Given the description of an element on the screen output the (x, y) to click on. 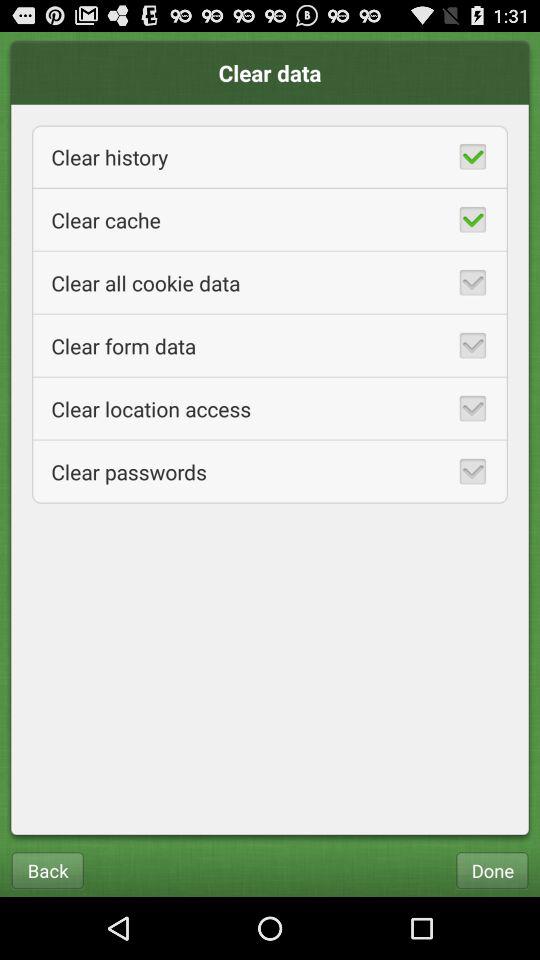
turn off clear all cookie item (269, 282)
